Given the description of an element on the screen output the (x, y) to click on. 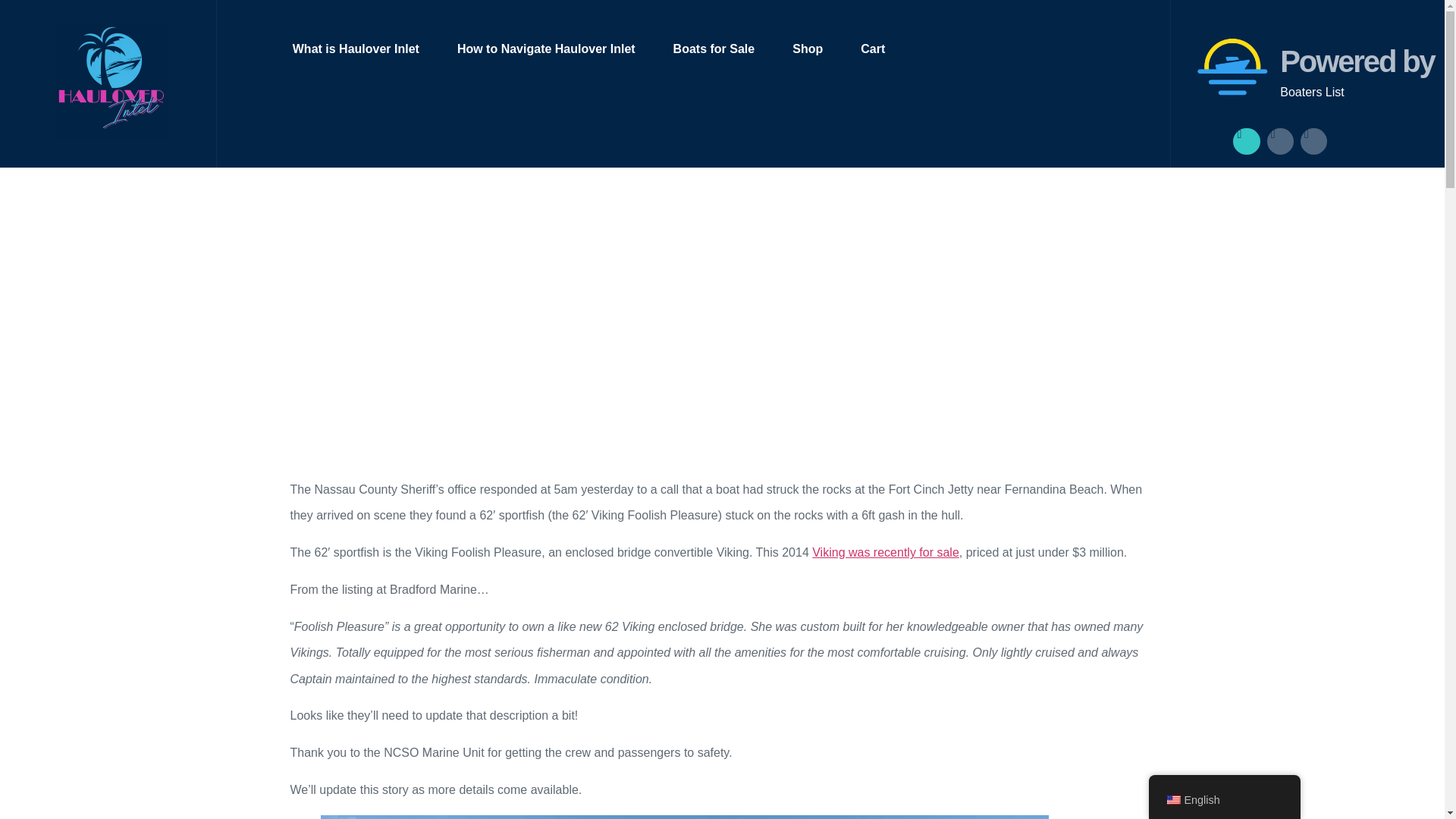
English (1172, 799)
Shop (807, 48)
Powered by (1356, 61)
What is Haulover Inlet (365, 48)
How to Navigate Haulover Inlet (545, 48)
Boats for Sale (713, 48)
Cart (863, 48)
Viking was recently for sale (885, 552)
English (1224, 799)
